Given the description of an element on the screen output the (x, y) to click on. 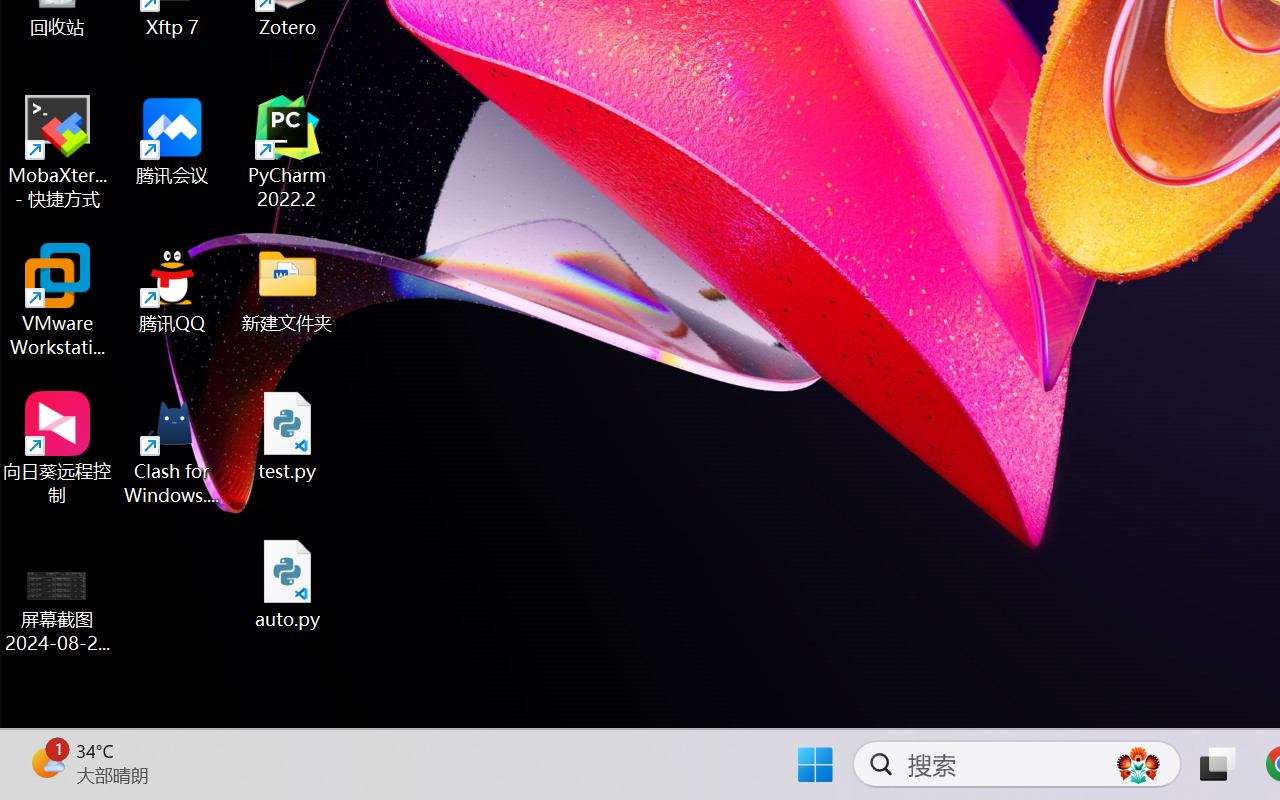
VMware Workstation Pro (57, 300)
test.py (287, 436)
PyCharm 2022.2 (287, 152)
auto.py (287, 584)
